Given the description of an element on the screen output the (x, y) to click on. 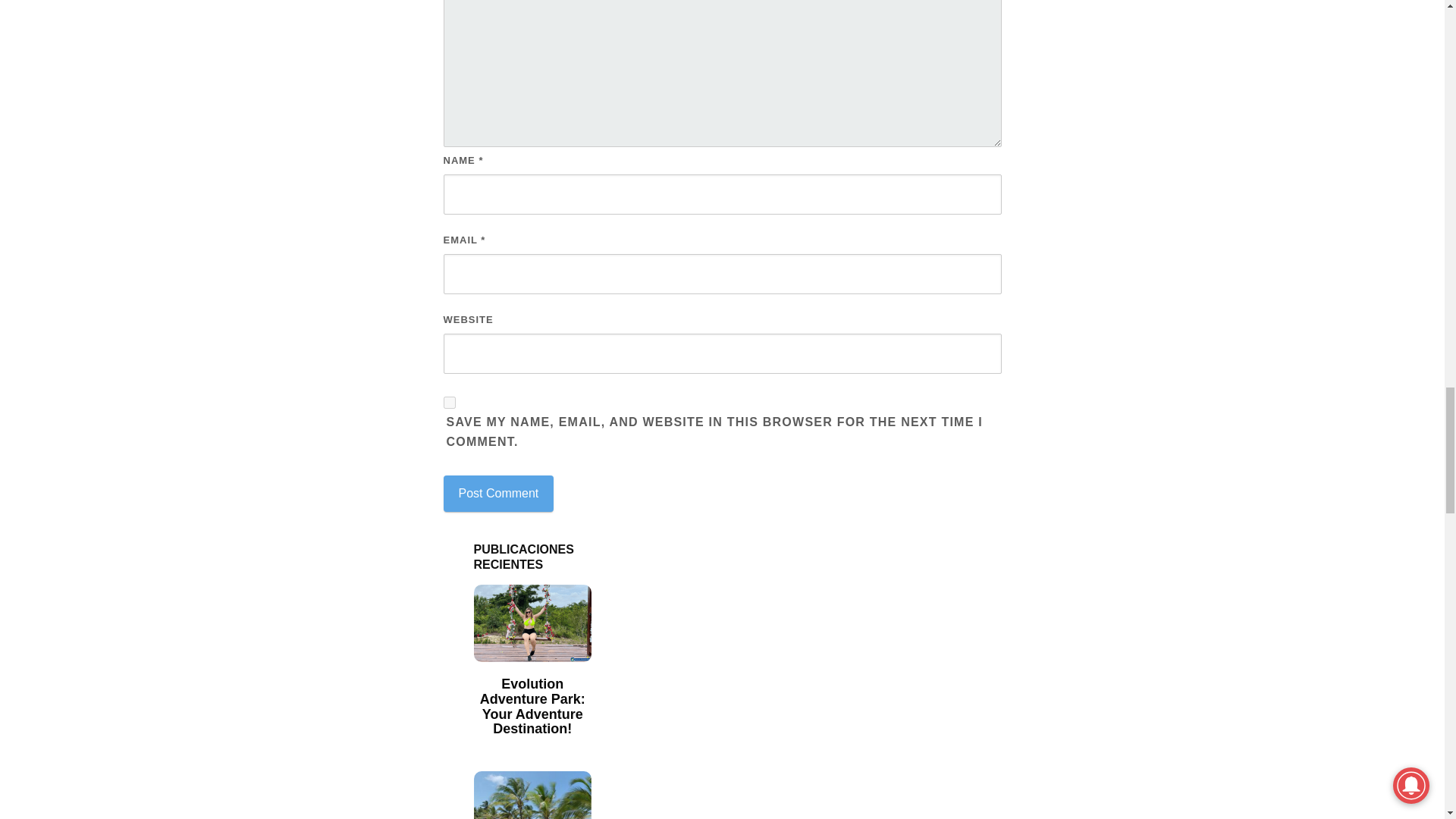
Evolution Adventure Park: Your Adventure Destination! (532, 707)
Post Comment (497, 493)
yes (448, 402)
Post Comment (497, 493)
